Given the description of an element on the screen output the (x, y) to click on. 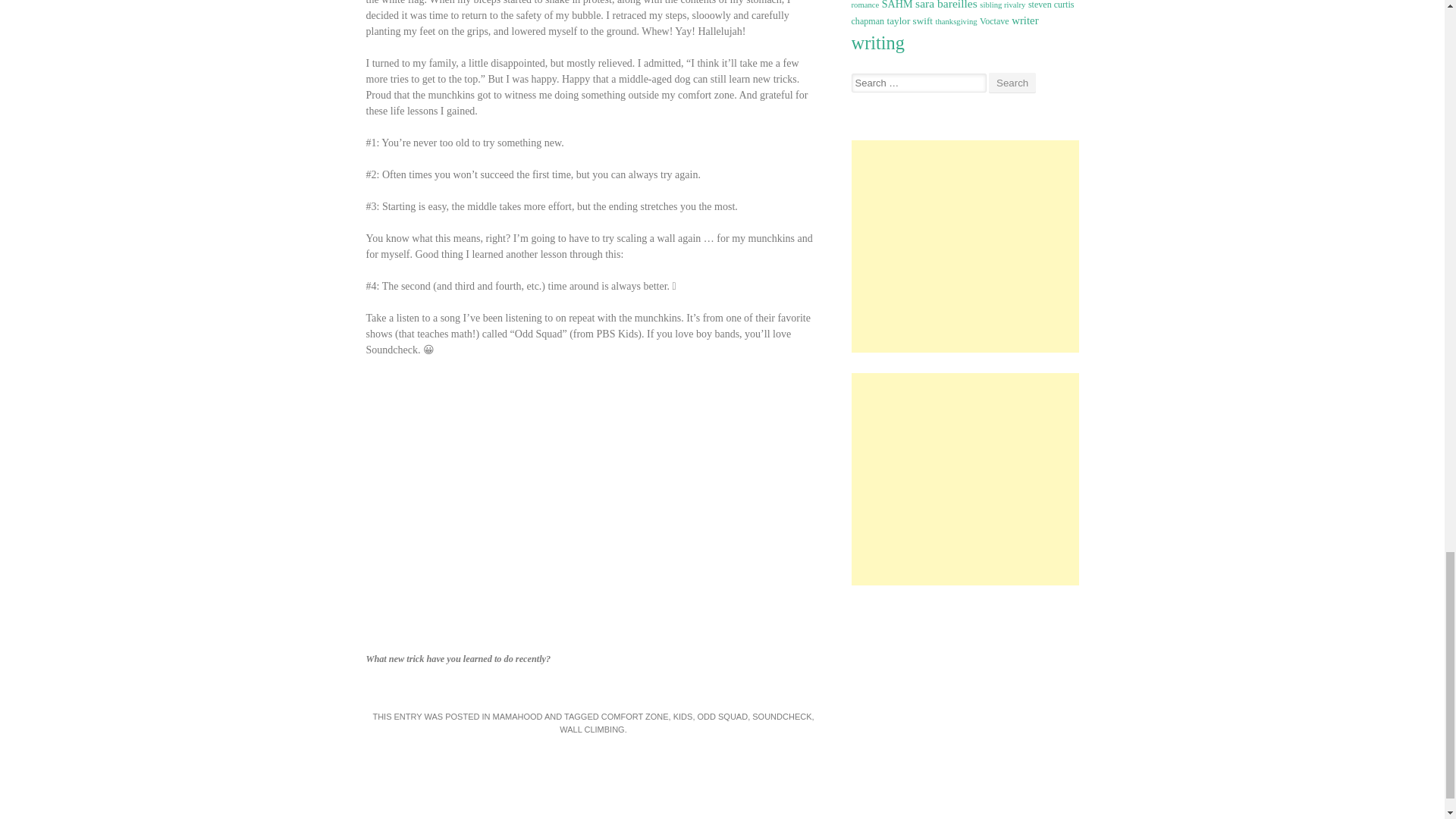
MAMAHOOD (518, 716)
ODD SQUAD (722, 716)
Search (1011, 82)
Search (1011, 82)
SOUNDCHECK (781, 716)
COMFORT ZONE (634, 716)
KIDS (682, 716)
WALL CLIMBING (591, 728)
